Given the description of an element on the screen output the (x, y) to click on. 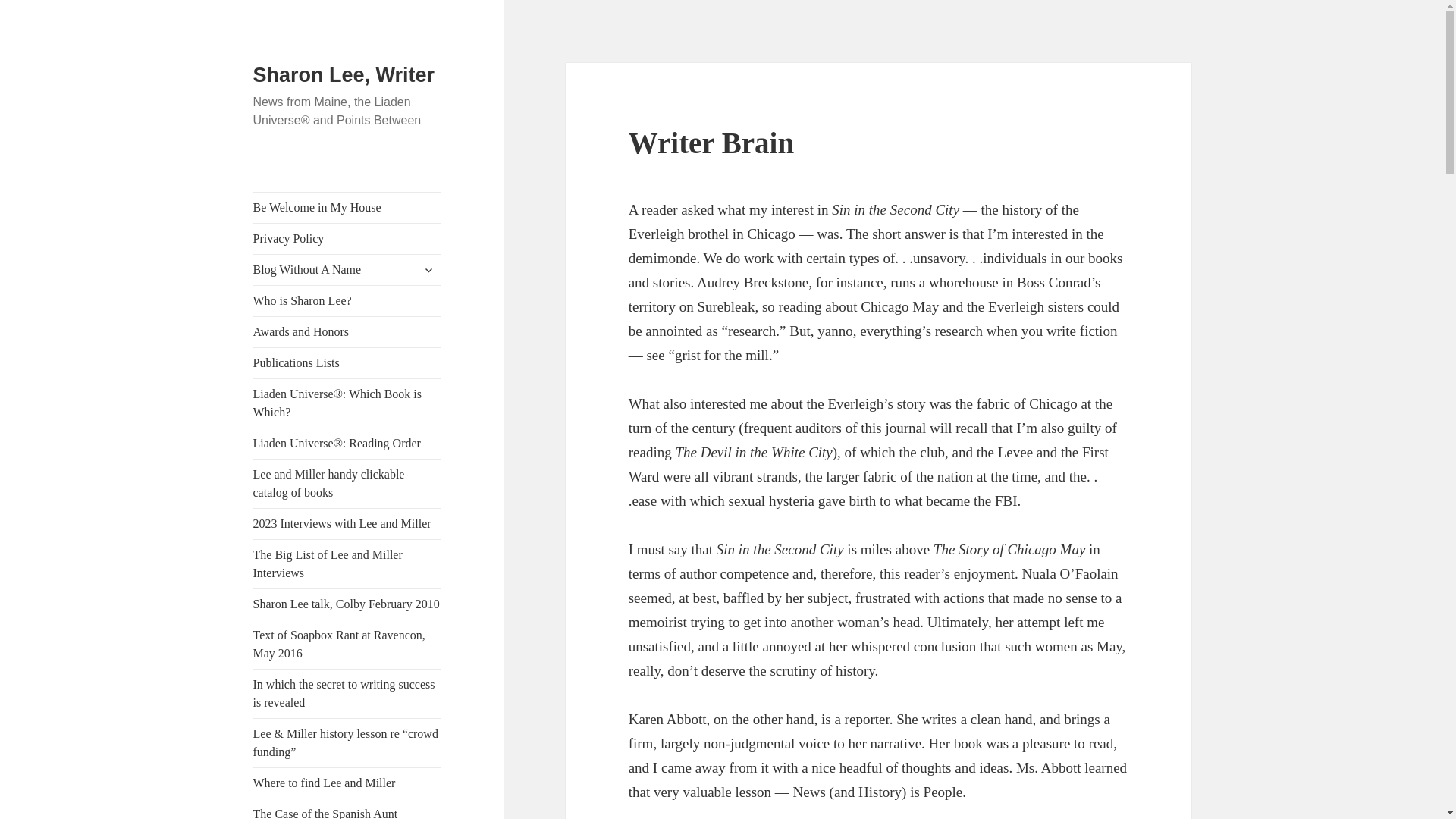
Sharon Lee talk, Colby February 2010 (347, 603)
Who is Sharon Lee? (347, 300)
asked (697, 209)
The Big List of Lee and Miller Interviews (347, 563)
2023 Interviews with Lee and Miller (347, 523)
Be Welcome in My House (347, 207)
Blog Without A Name (347, 269)
Publications Lists (347, 363)
The Case of the Spanish Aunt (347, 809)
Text of Soapbox Rant at Ravencon, May 2016 (347, 644)
Sharon Lee, Writer (344, 74)
Awards and Honors (347, 331)
expand child menu (428, 269)
Where to find Lee and Miller (347, 783)
Lee and Miller handy clickable catalog of books (347, 483)
